Given the description of an element on the screen output the (x, y) to click on. 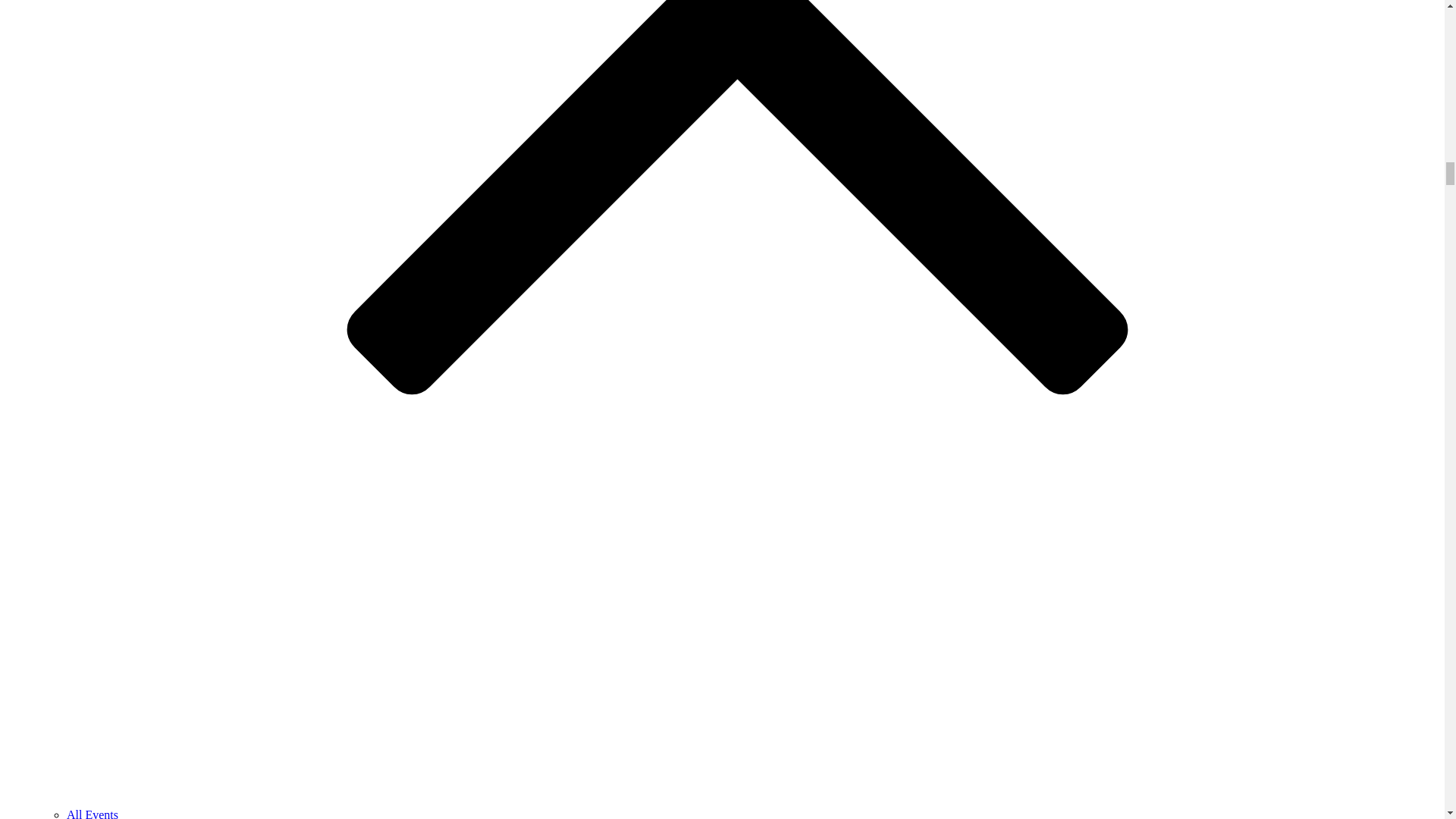
All Events (91, 813)
